Given the description of an element on the screen output the (x, y) to click on. 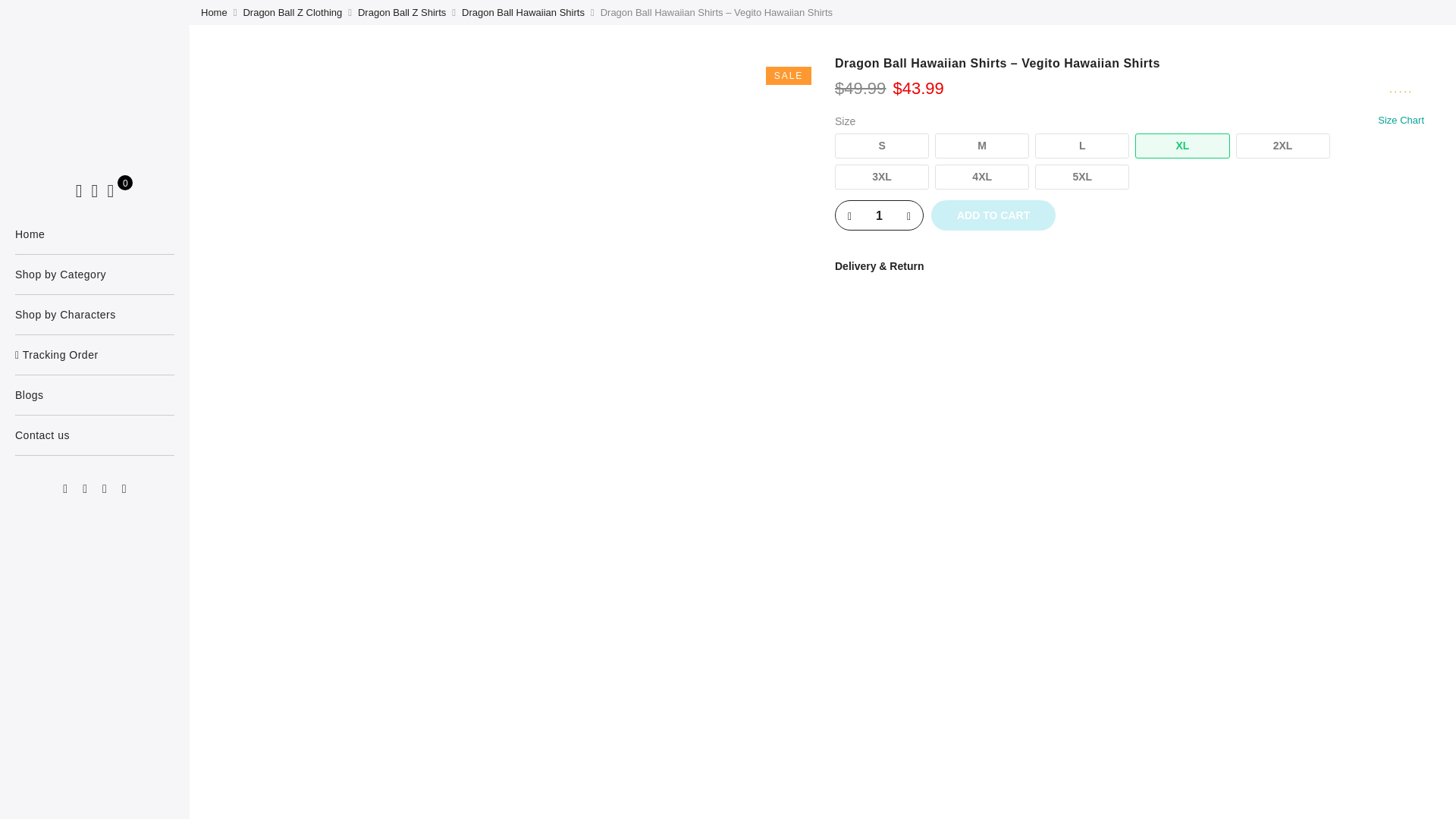
XL (1181, 145)
1 (879, 215)
S (881, 145)
M (981, 145)
2XL (1283, 145)
L (1082, 145)
Home (94, 233)
Shop by Category (94, 274)
